Given the description of an element on the screen output the (x, y) to click on. 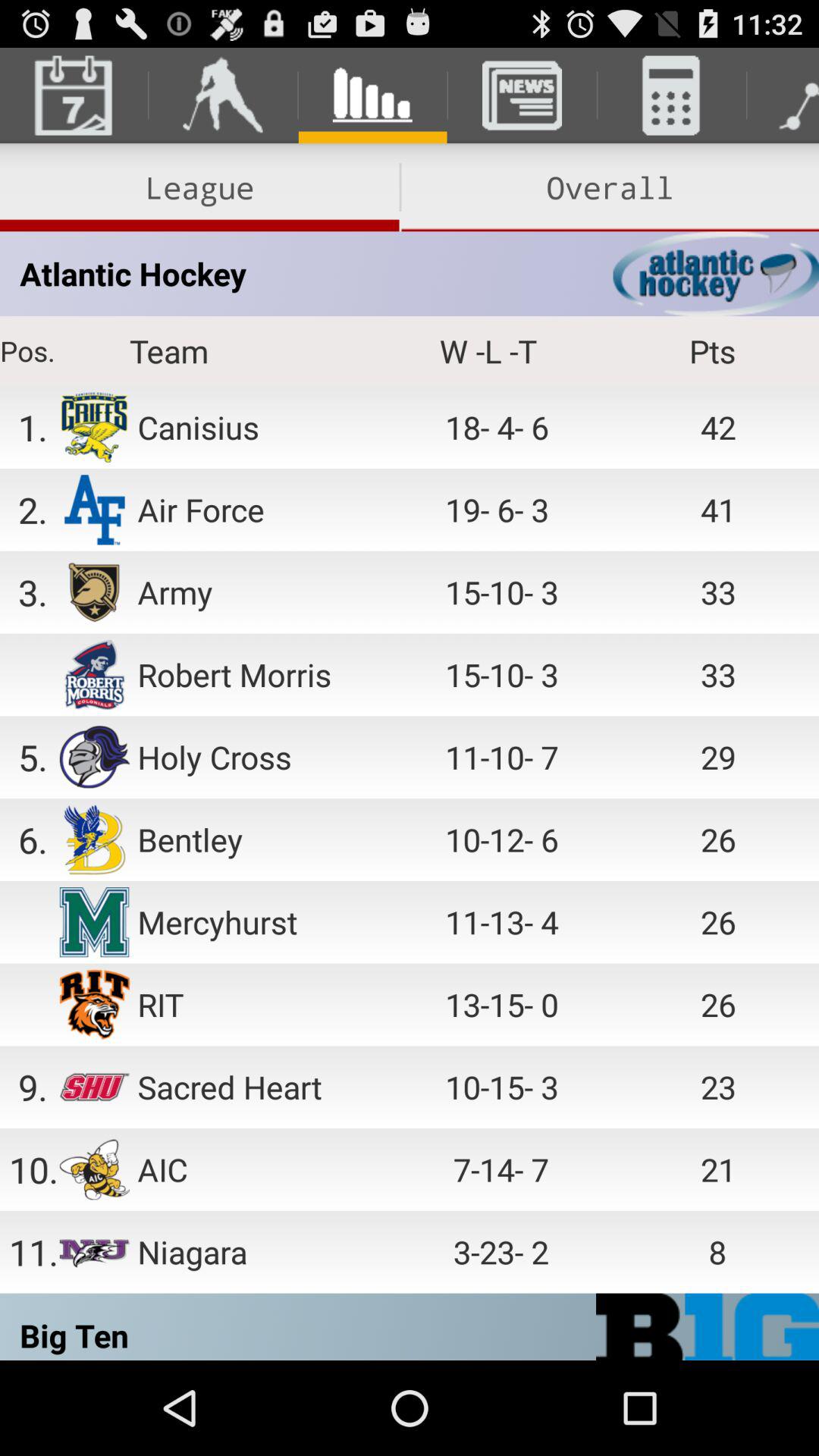
open the league item (199, 187)
